Given the description of an element on the screen output the (x, y) to click on. 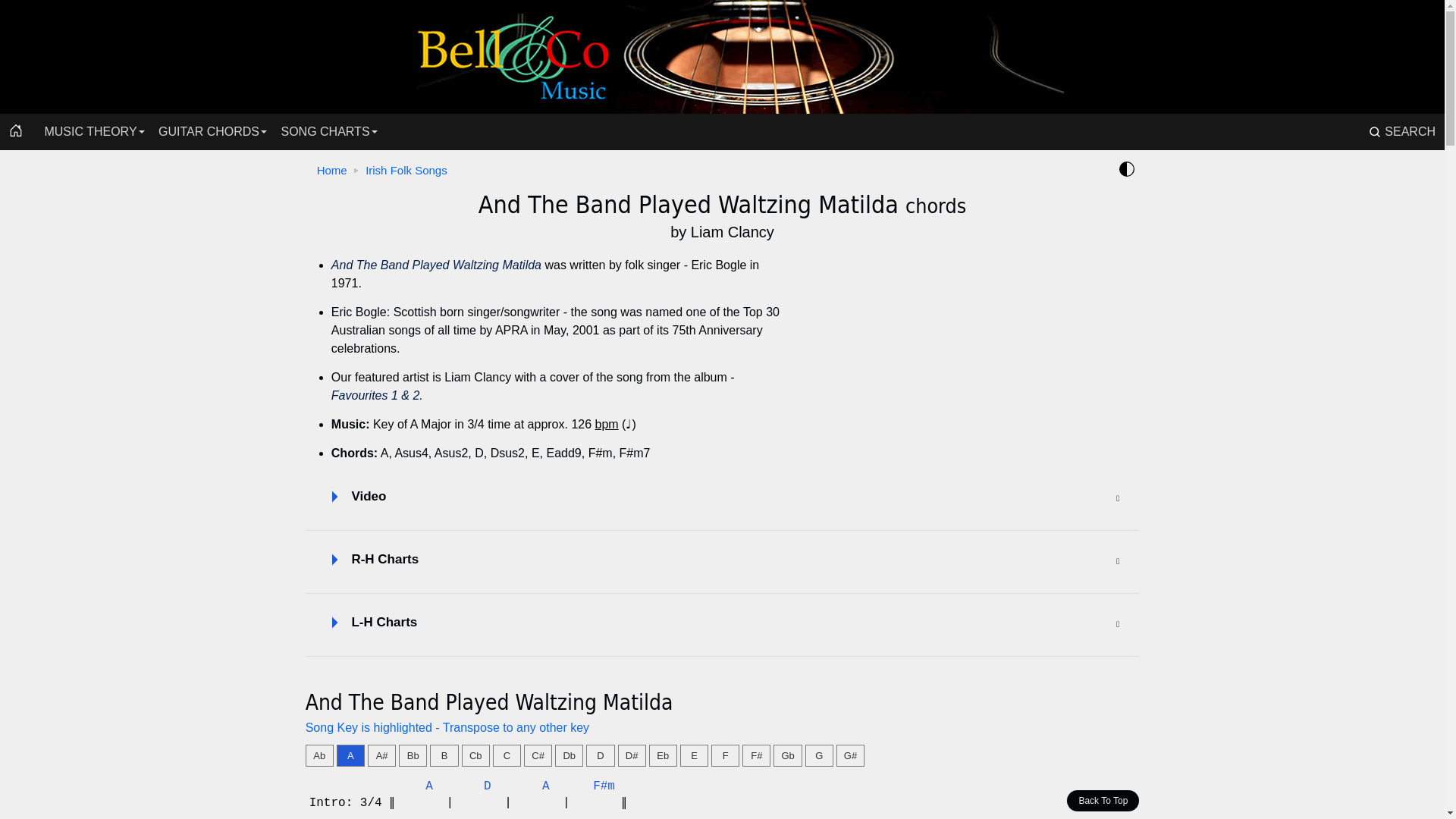
Irish Folk Songs (409, 169)
GUITAR CHORDS (208, 131)
Home (722, 56)
A (350, 755)
R-H Charts (722, 561)
Video (722, 498)
Ab (319, 755)
Home (335, 169)
L-H Charts (722, 624)
SONG CHARTS (324, 131)
